Given the description of an element on the screen output the (x, y) to click on. 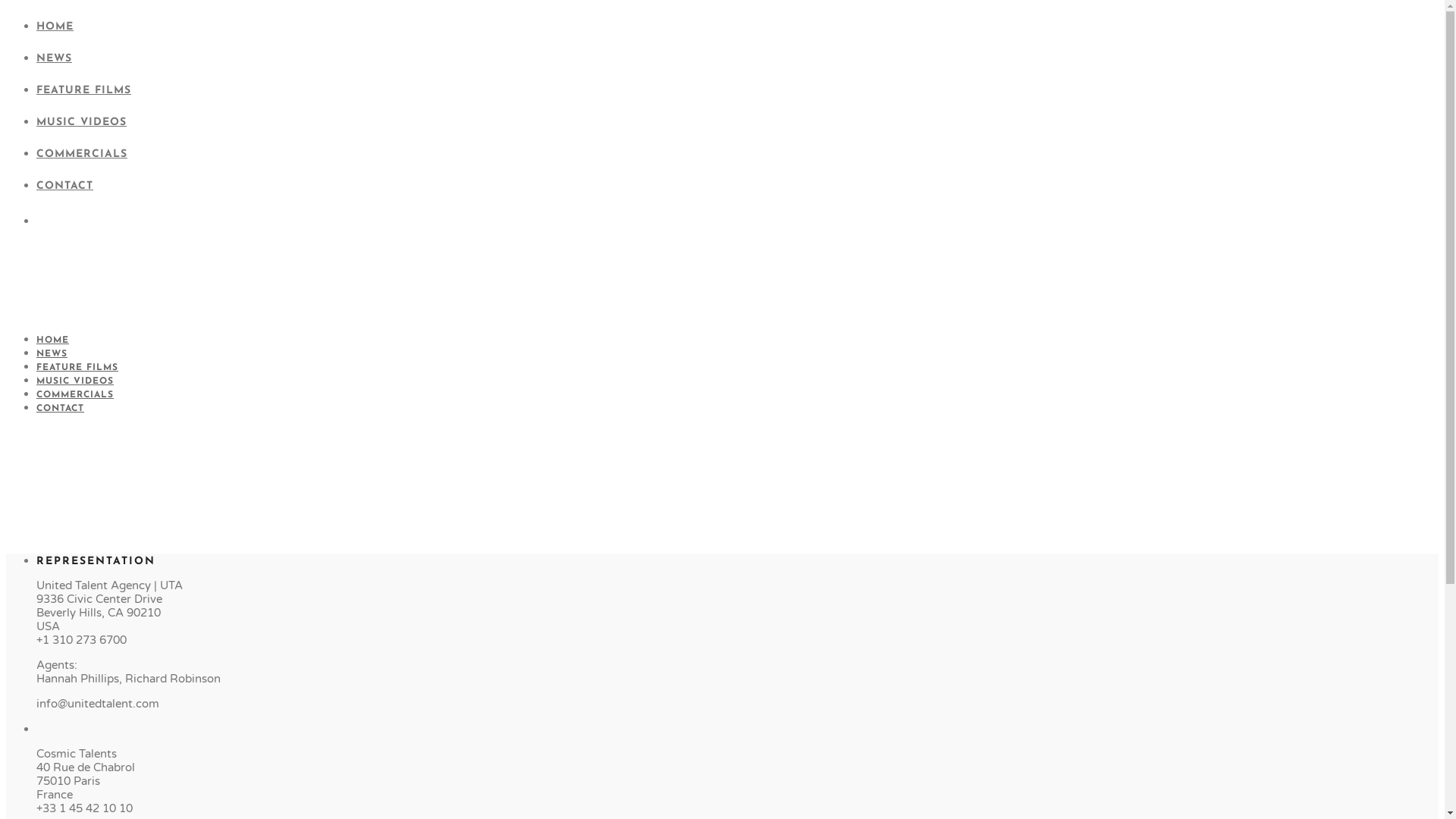
MUSIC VIDEOS Element type: text (74, 381)
CONTACT Element type: text (64, 185)
HOME Element type: text (52, 340)
COMMERCIALS Element type: text (81, 154)
COMMERCIALS Element type: text (74, 394)
NEWS Element type: text (51, 353)
NEWS Element type: text (54, 58)
FEATURE FILMS Element type: text (83, 90)
MUSIC VIDEOS Element type: text (81, 122)
CONTACT Element type: text (60, 408)
HOME Element type: text (54, 26)
FEATURE FILMS Element type: text (77, 367)
